Given the description of an element on the screen output the (x, y) to click on. 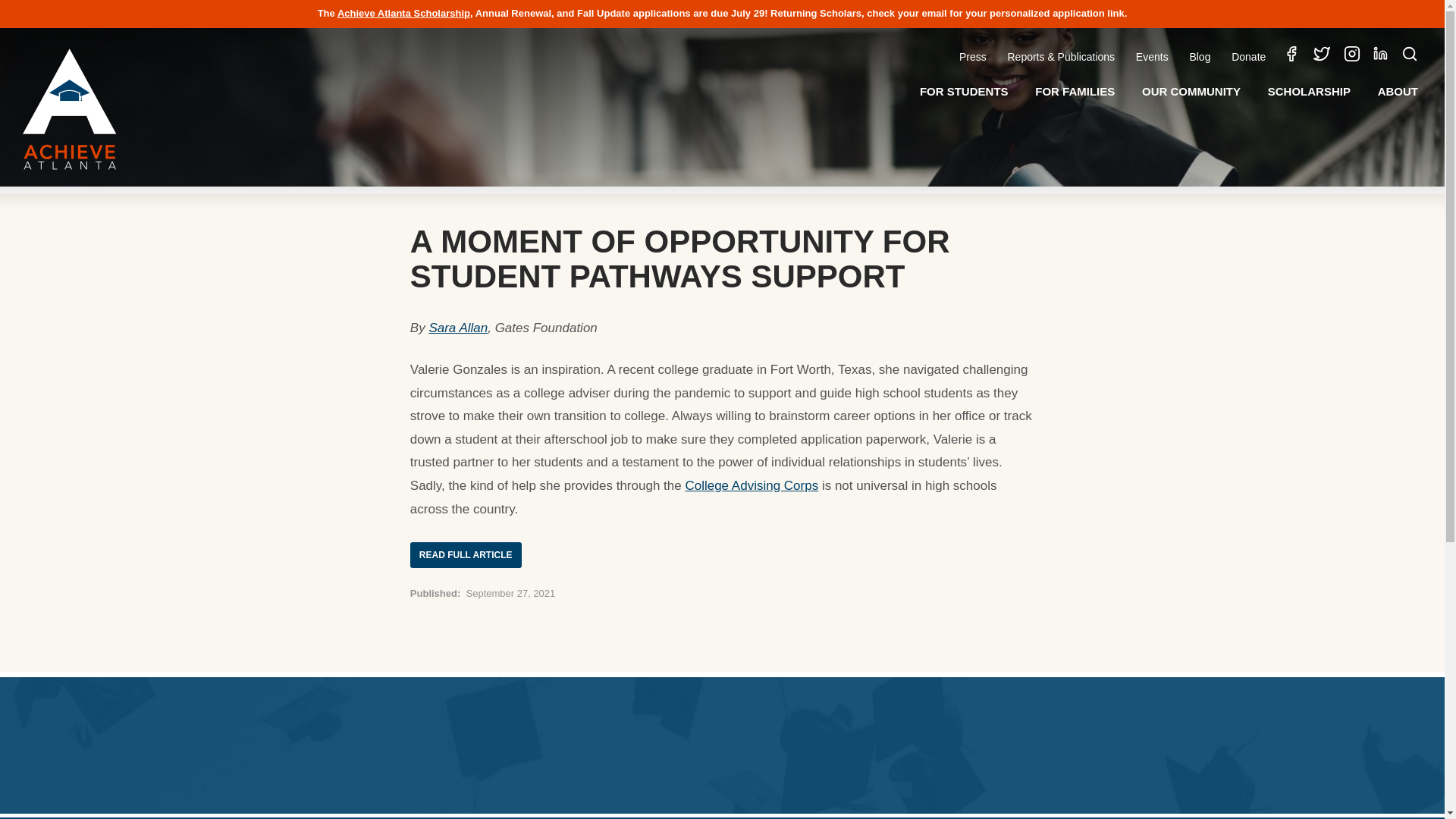
Search (1409, 55)
Blog (1198, 56)
LinkedIn (1380, 54)
FOR FAMILIES (1074, 91)
OUR COMMUNITY (1191, 91)
Achieve Atlanta Scholarship (403, 12)
Twitter (1320, 55)
Instagram (1351, 55)
Press (973, 56)
Events (1152, 56)
FOR STUDENTS (963, 91)
Donate (1248, 56)
Facebook (1291, 55)
